Given the description of an element on the screen output the (x, y) to click on. 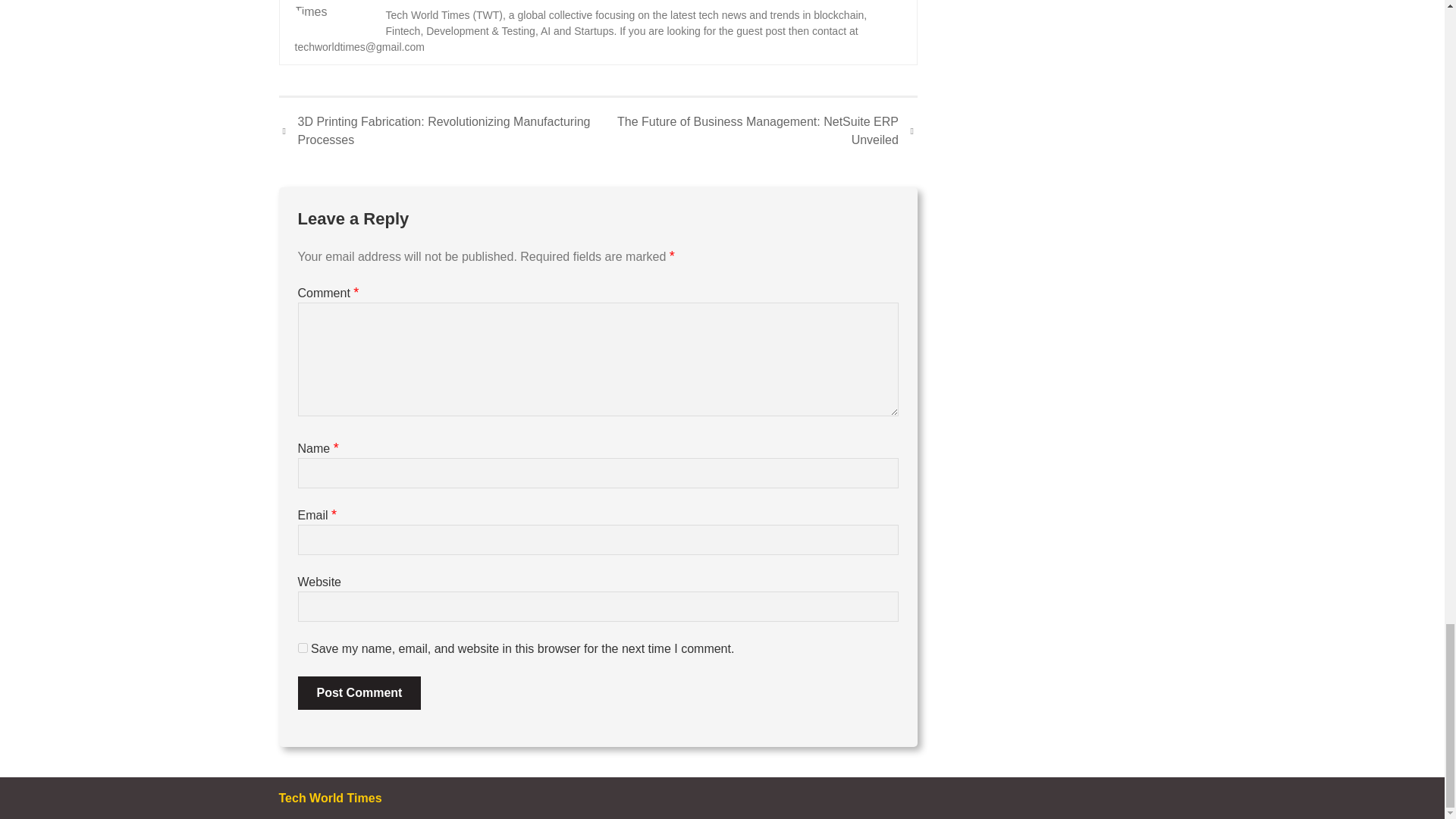
Post Comment (358, 693)
The Future of Business Management: NetSuite ERP Unveiled (757, 131)
Tech World Times (439, 0)
Post Comment (358, 693)
yes (302, 647)
